Given the description of an element on the screen output the (x, y) to click on. 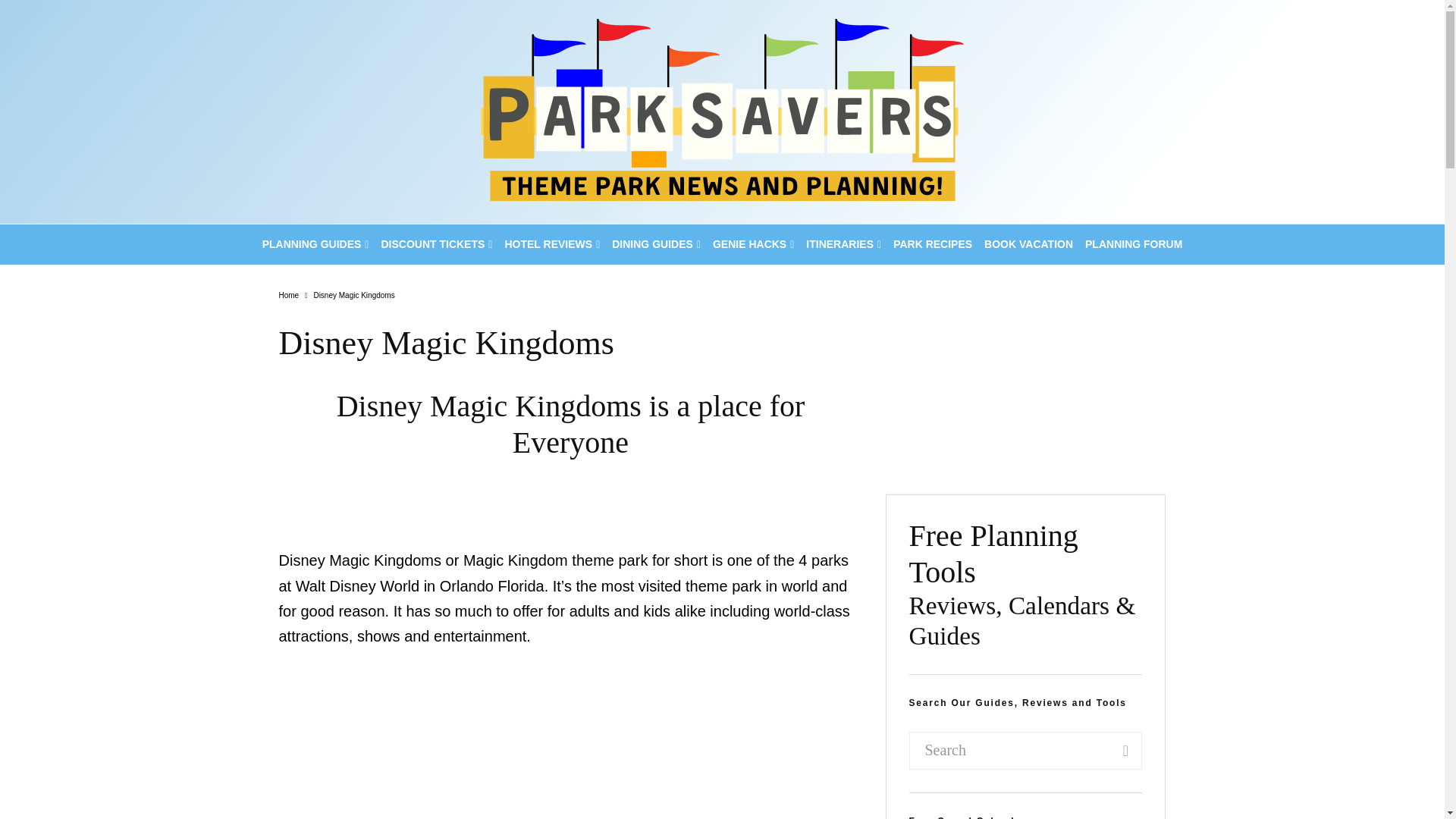
HOTEL REVIEWS (551, 244)
PLANNING FORUM (1133, 244)
PLANNING GUIDES (315, 244)
PARK RECIPES (932, 244)
BOOK VACATION (1028, 244)
GENIE HACKS (752, 244)
DINING GUIDES (655, 244)
DISCOUNT TICKETS (435, 244)
ITINERARIES (842, 244)
